Given the description of an element on the screen output the (x, y) to click on. 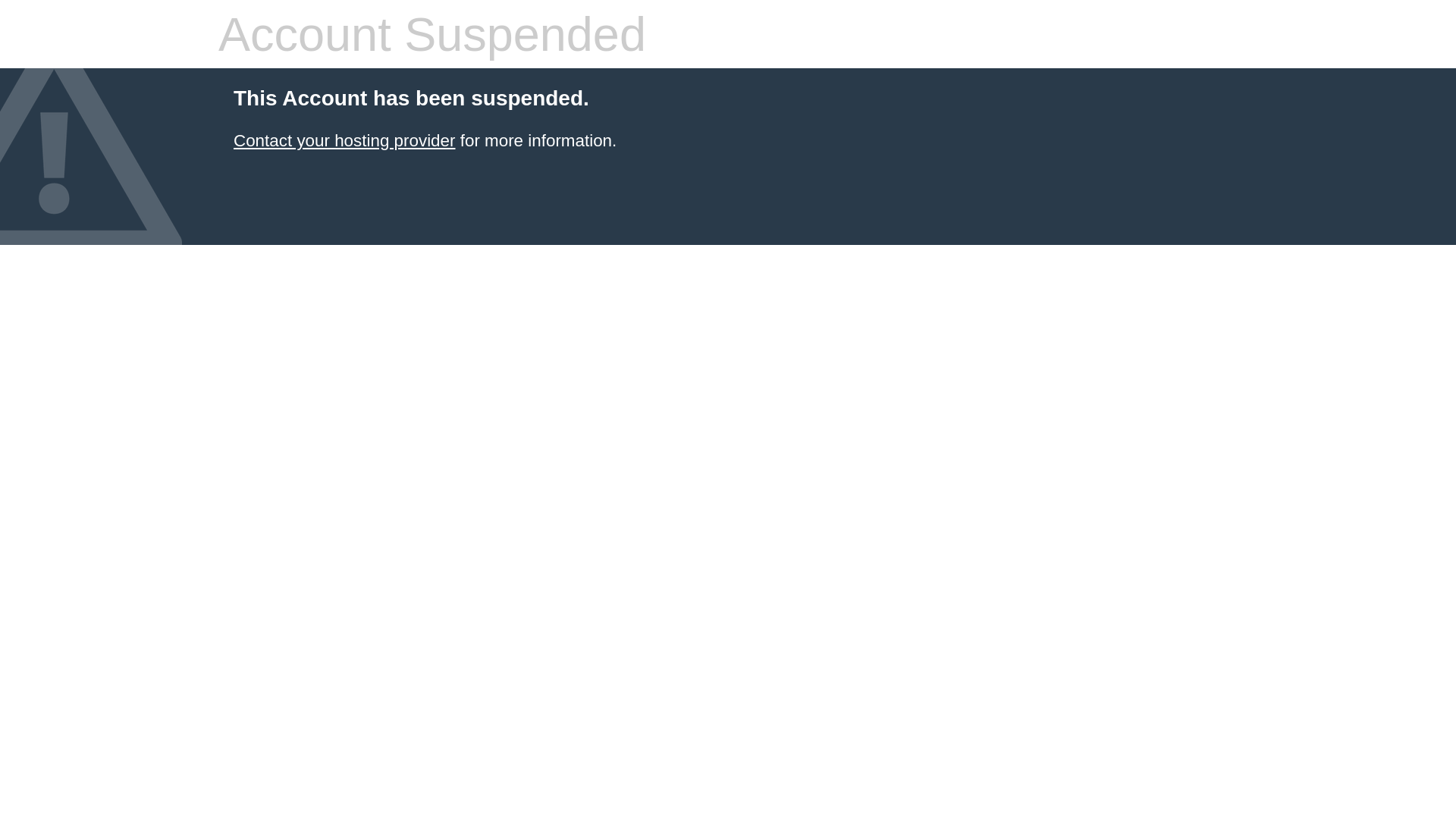
Contact your hosting provider Element type: text (344, 140)
